Given the description of an element on the screen output the (x, y) to click on. 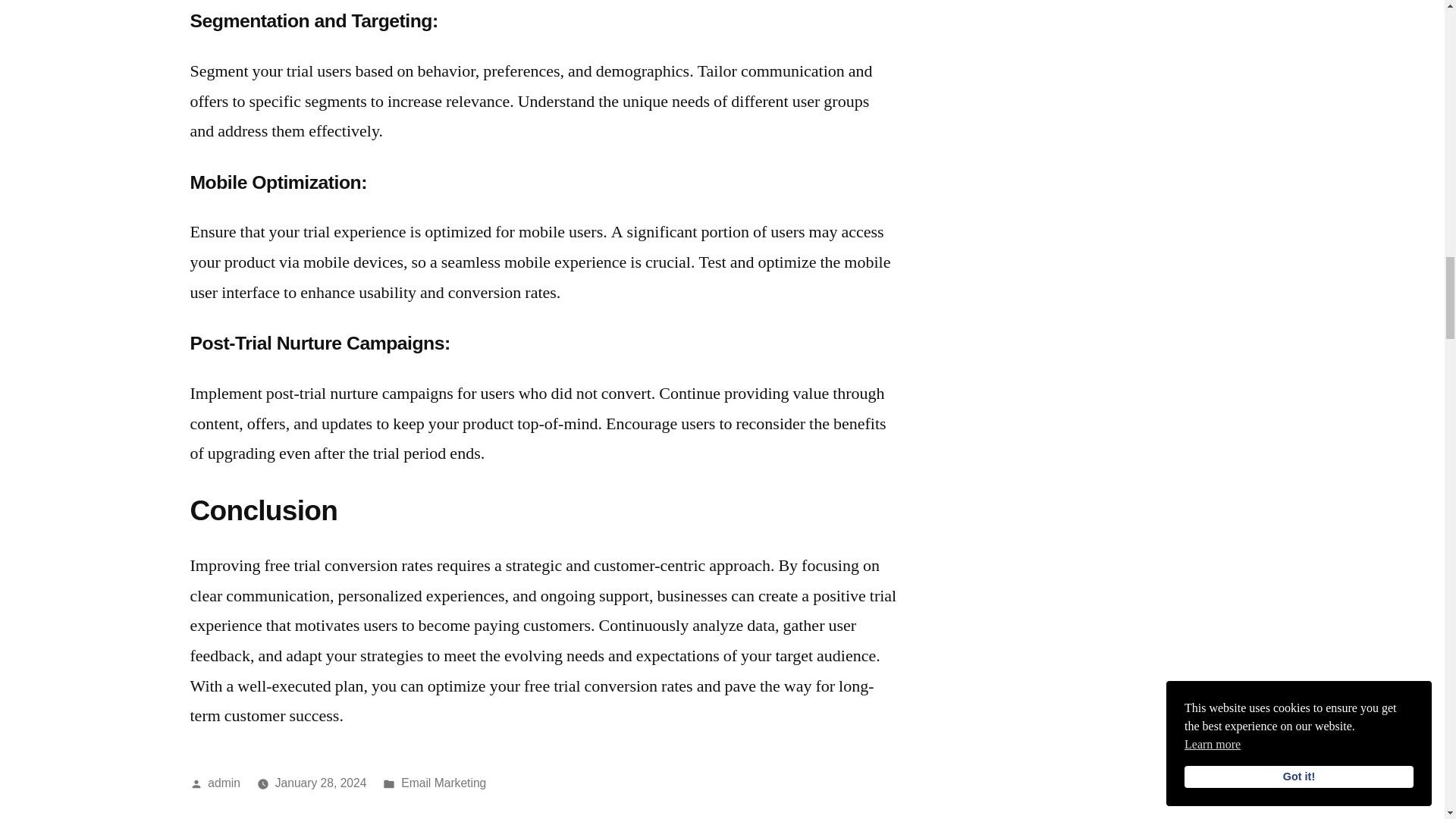
January 28, 2024 (320, 782)
admin (224, 782)
Email Marketing (443, 782)
